Given the description of an element on the screen output the (x, y) to click on. 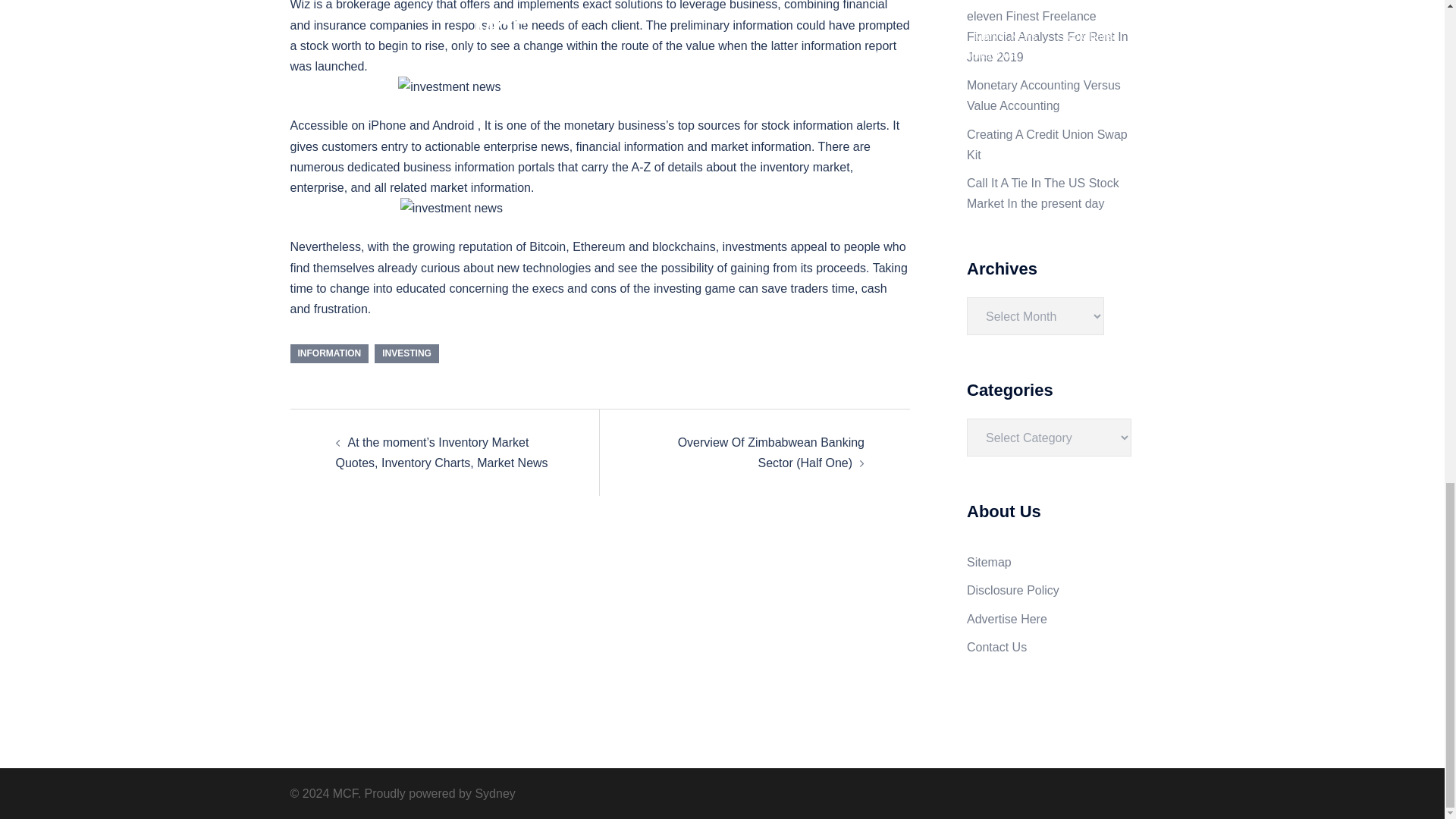
INFORMATION (328, 352)
INVESTING (406, 352)
